Given the description of an element on the screen output the (x, y) to click on. 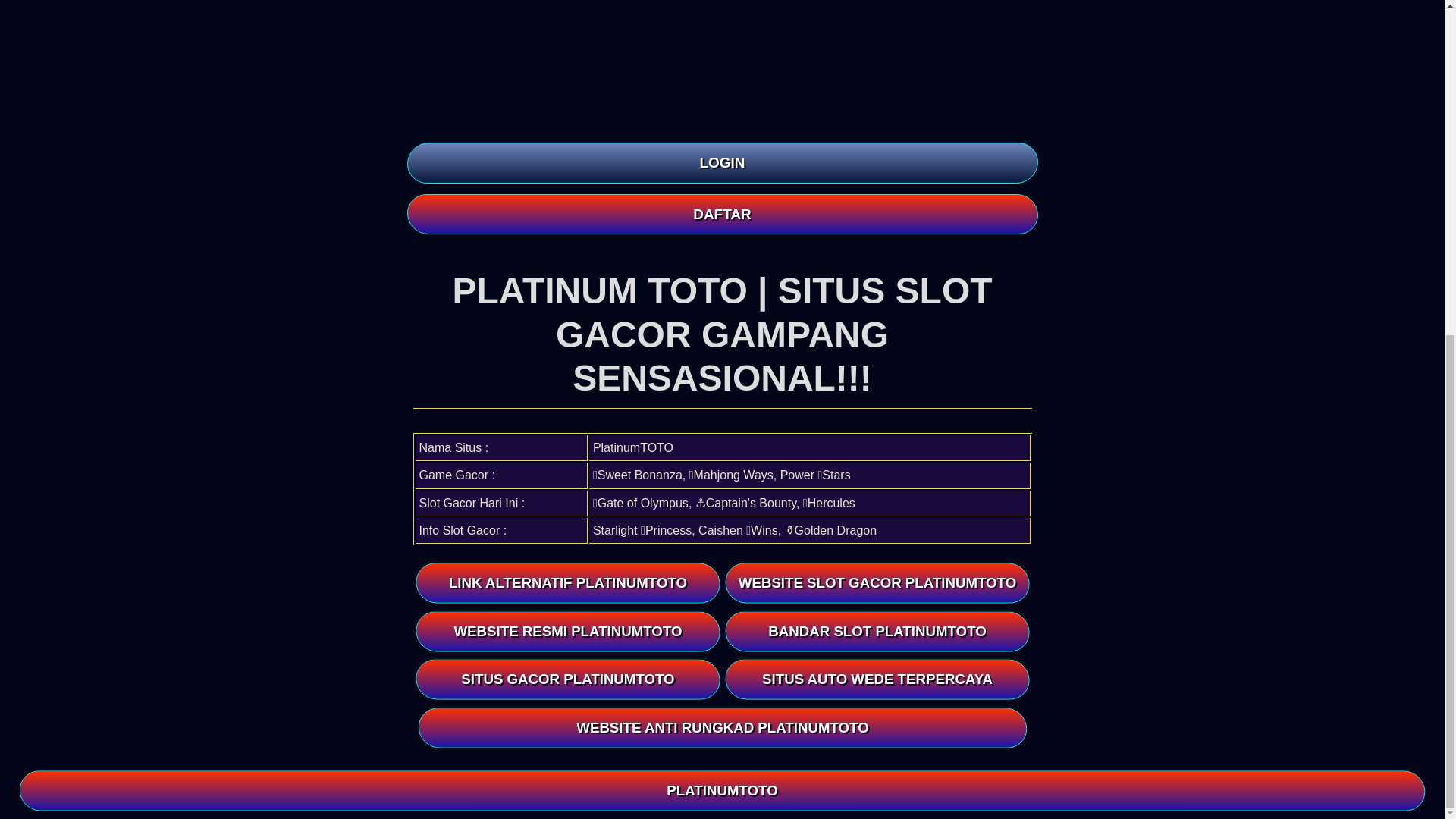
SITUS GACOR PLATINUMTOTO (567, 679)
DAFTAR (721, 214)
WEBSITE ANTI RUNGKAD PLATINUMTOTO (726, 727)
LOGIN (721, 162)
LINK ALTERNATIF PLATINUMTOTO (567, 582)
SITUS AUTO WEDE TERPERCAYA (879, 680)
WEBSITE SLOT GACOR PLATINUMTOTO (877, 582)
WEBSITE RESMI PLATINUMTOTO (567, 630)
BANDAR SLOT PLATINUMTOTO (878, 630)
